Given the description of an element on the screen output the (x, y) to click on. 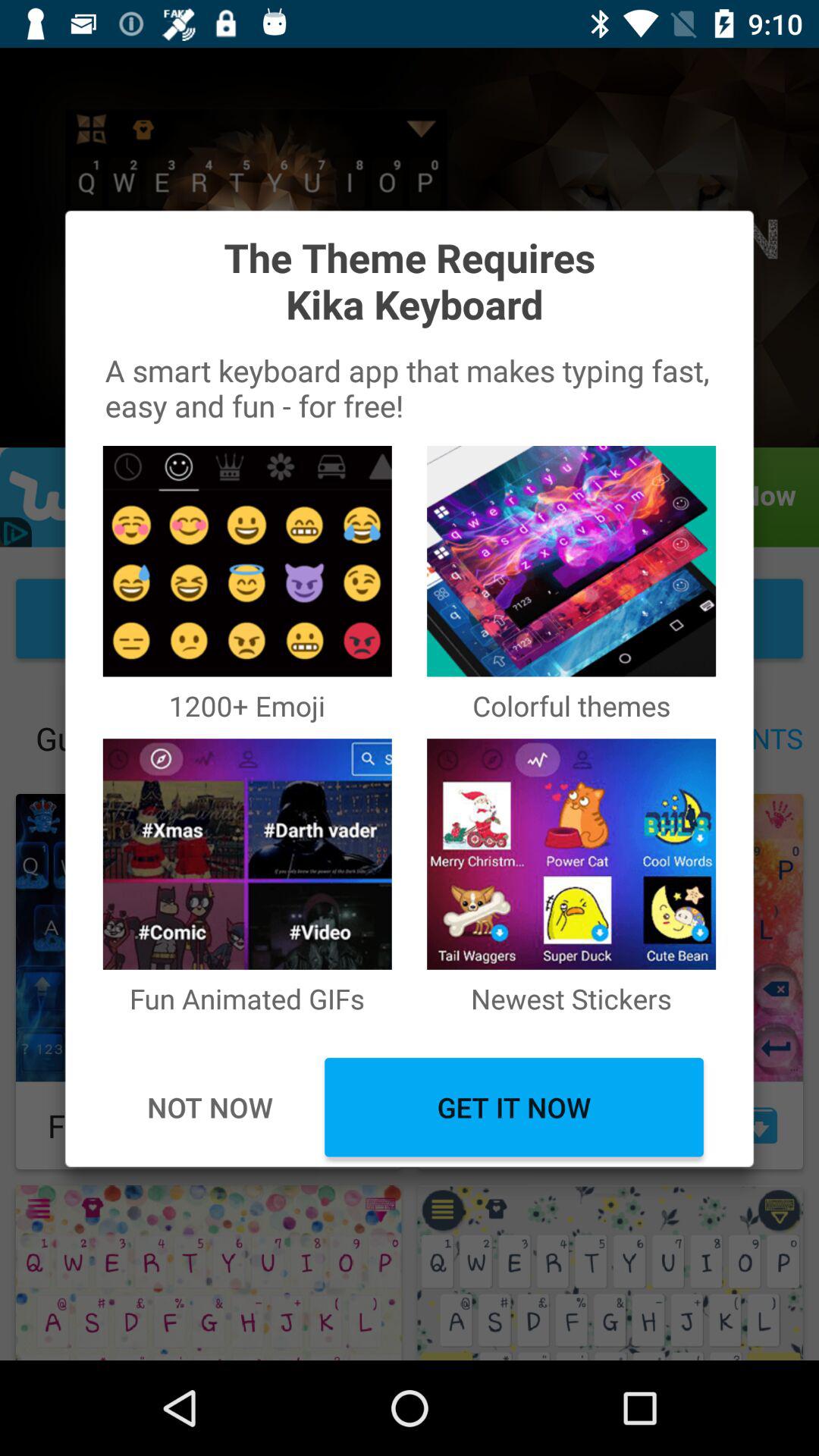
select icon next to the not now item (513, 1106)
